Given the description of an element on the screen output the (x, y) to click on. 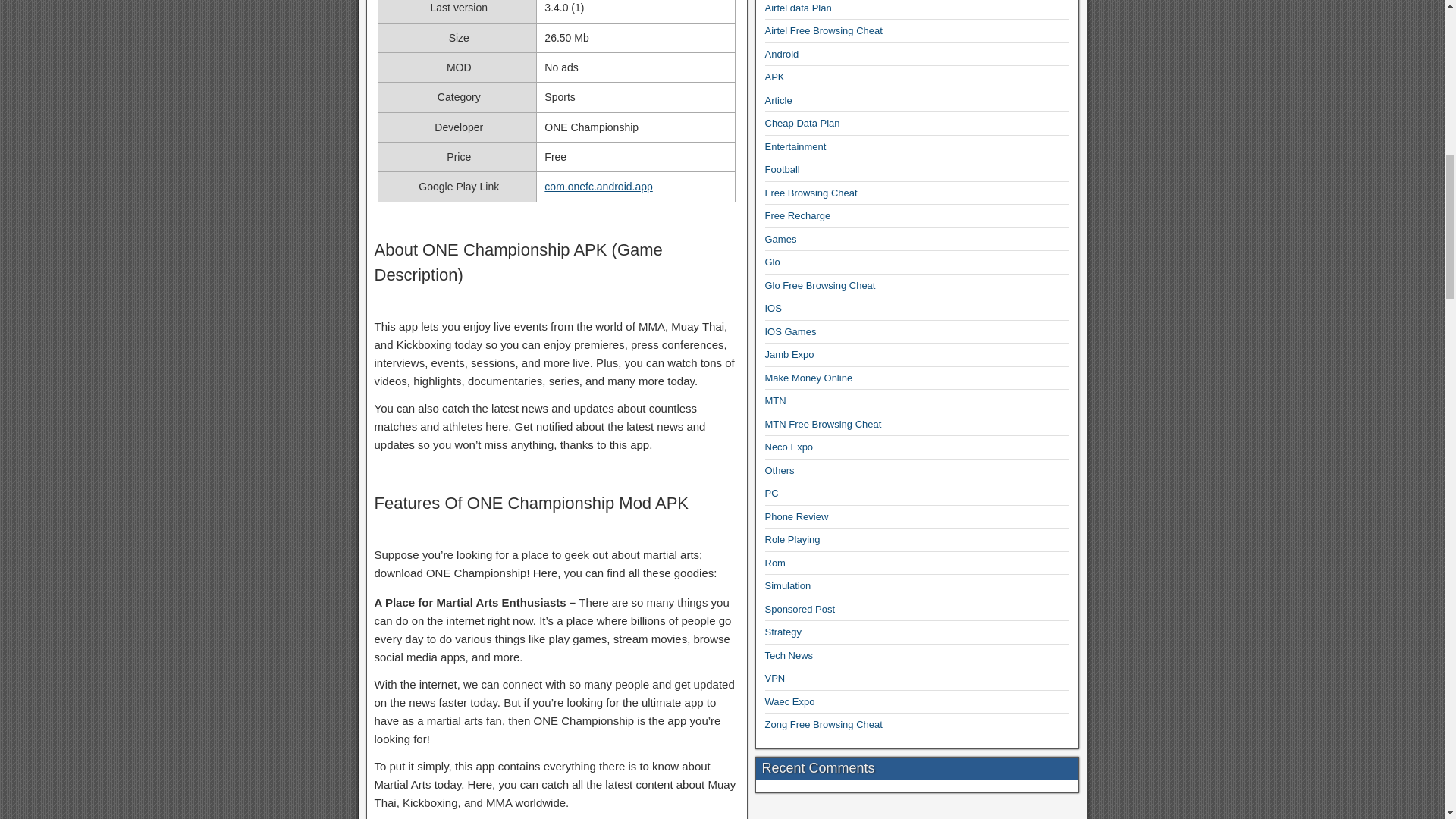
com.onefc.android.app (598, 186)
